Given the description of an element on the screen output the (x, y) to click on. 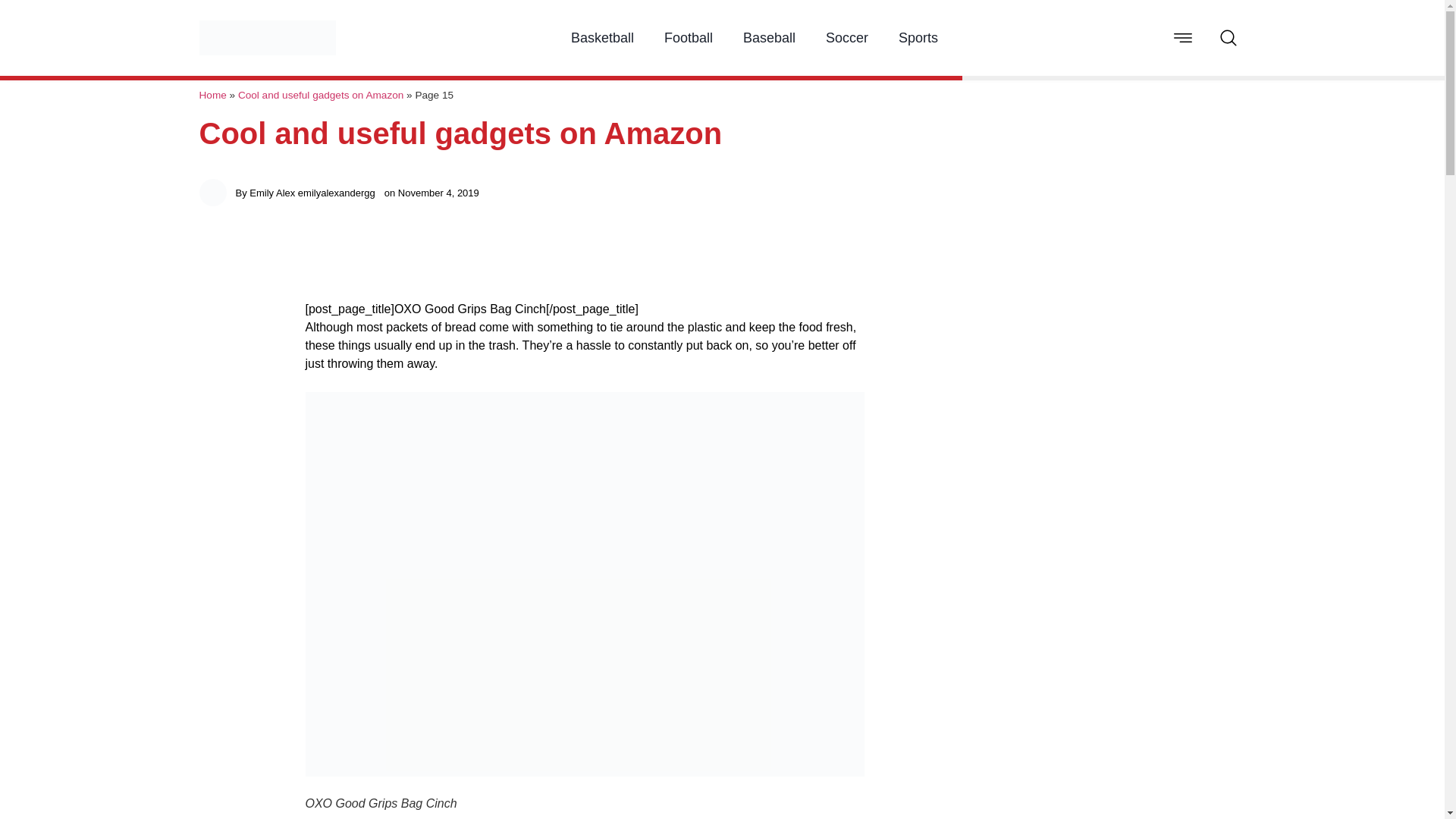
Home (211, 94)
Soccer (846, 37)
Cool and useful gadgets on Amazon (320, 94)
Sports (917, 37)
Football (688, 37)
Basketball (601, 37)
Baseball (768, 37)
